Given the description of an element on the screen output the (x, y) to click on. 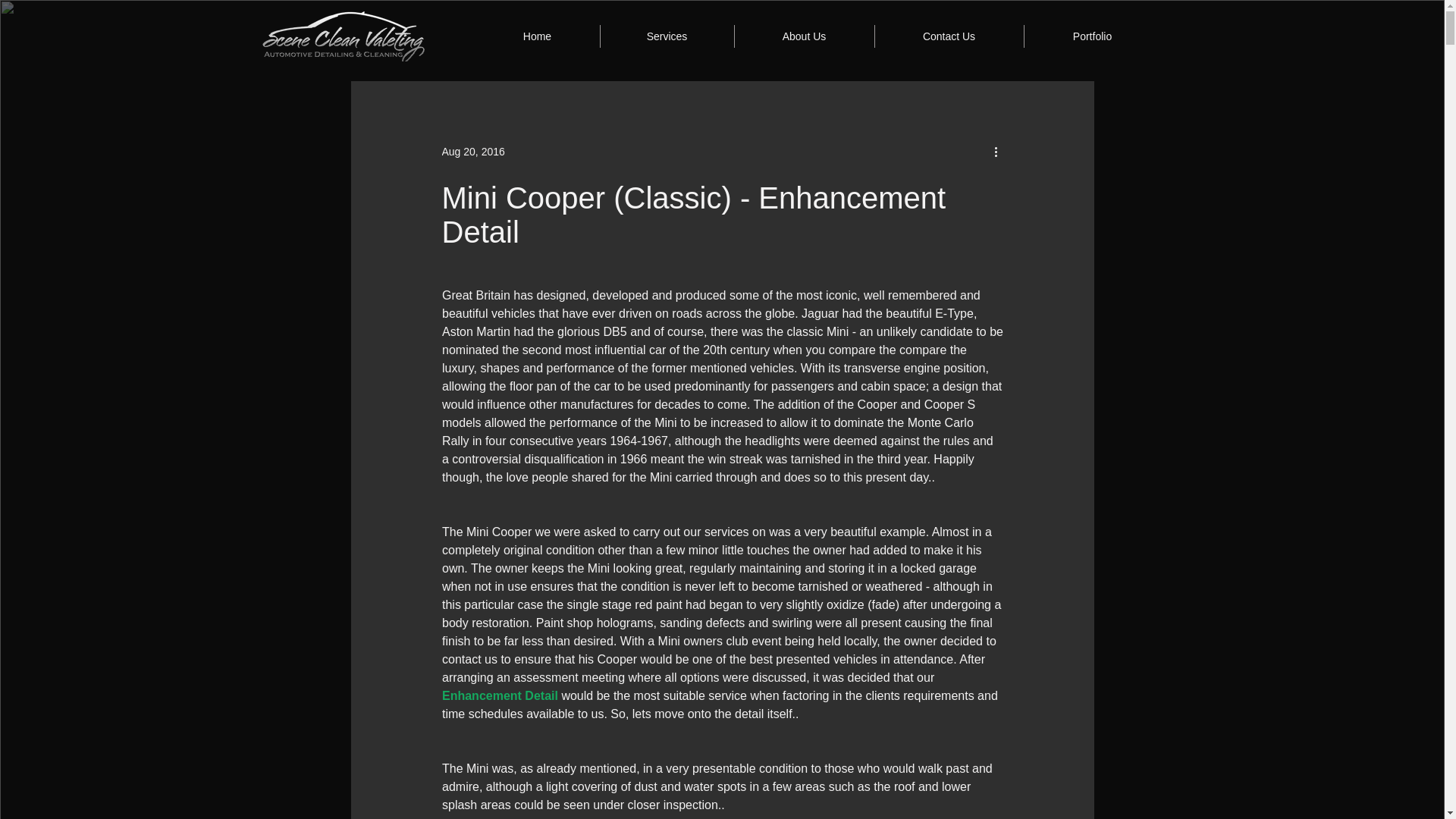
Contact Us (948, 36)
About Us (804, 36)
Portfolio (1091, 36)
Services (665, 36)
Home (536, 36)
Aug 20, 2016 (472, 151)
Enhancement Detail (499, 695)
